Given the description of an element on the screen output the (x, y) to click on. 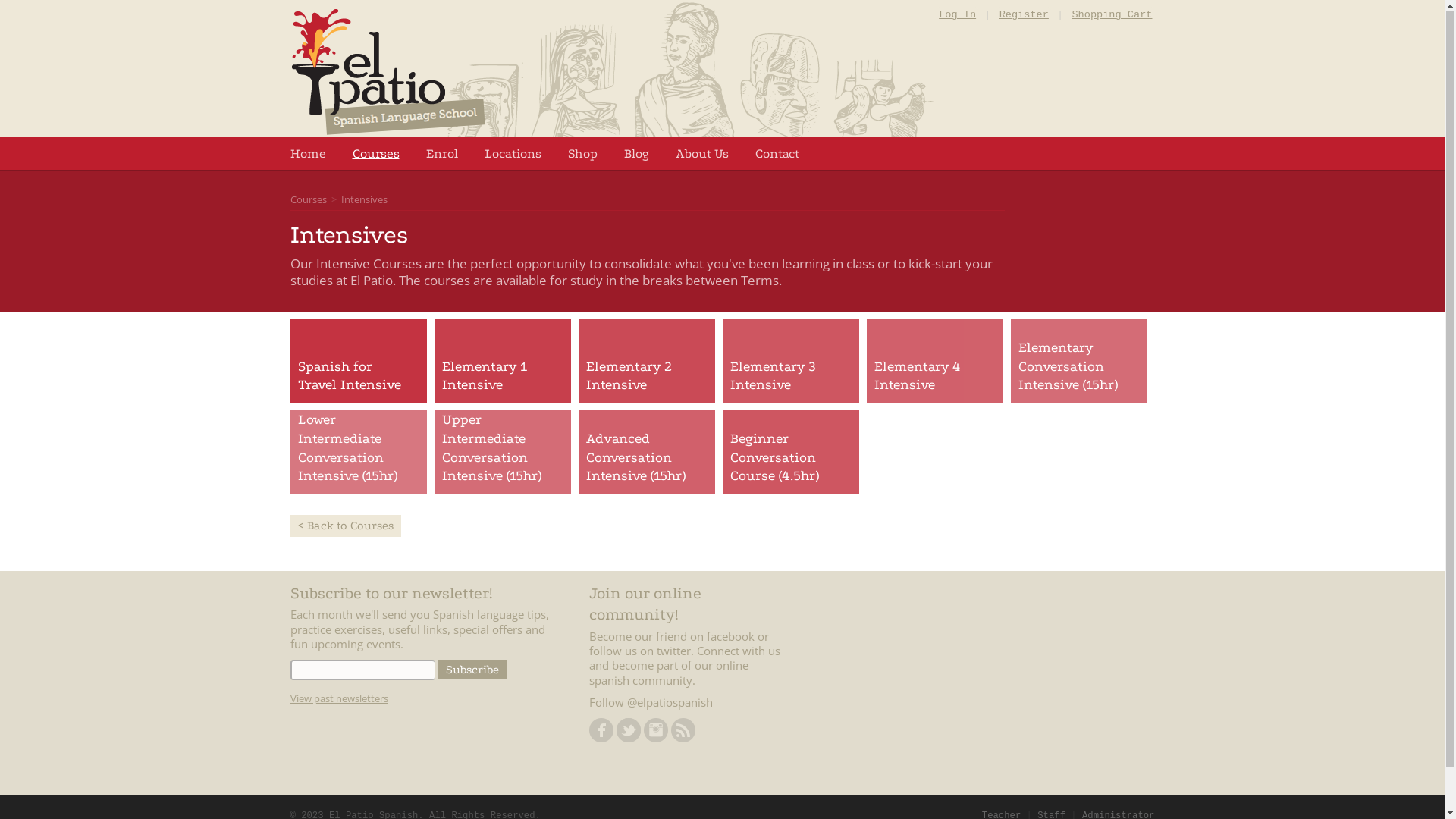
Contact Element type: text (777, 154)
Beginner Conversation Course (4.5hr) Element type: text (789, 458)
Shop Element type: text (581, 154)
Elementary Conversation Intensive (15hr) Element type: text (1078, 367)
Locations Element type: text (511, 154)
Courses Element type: text (307, 200)
< Back to Courses Element type: text (344, 526)
Advanced Conversation Intensive (15hr) Element type: text (645, 458)
Subscribe Element type: text (472, 670)
View past newsletters Element type: text (338, 699)
Home Element type: text (307, 154)
Lower Intermediate Conversation Intensive (15hr) Element type: text (357, 449)
Upper Intermediate Conversation Intensive (15hr) Element type: text (501, 449)
Elementary 3 Intensive Element type: text (789, 377)
Spanish for Travel Intensive Element type: text (357, 377)
Register Element type: text (1024, 15)
Elementary 1 Intensive Element type: text (501, 377)
Enrol Element type: text (442, 154)
Blog Element type: text (635, 154)
Elementary 4 Intensive Element type: text (934, 377)
About Us Element type: text (701, 154)
Shopping Cart Element type: text (1111, 15)
Courses Element type: text (374, 154)
Log In Element type: text (957, 15)
Follow @elpatiospanish Element type: text (650, 702)
Elementary 2 Intensive Element type: text (645, 377)
